Given the description of an element on the screen output the (x, y) to click on. 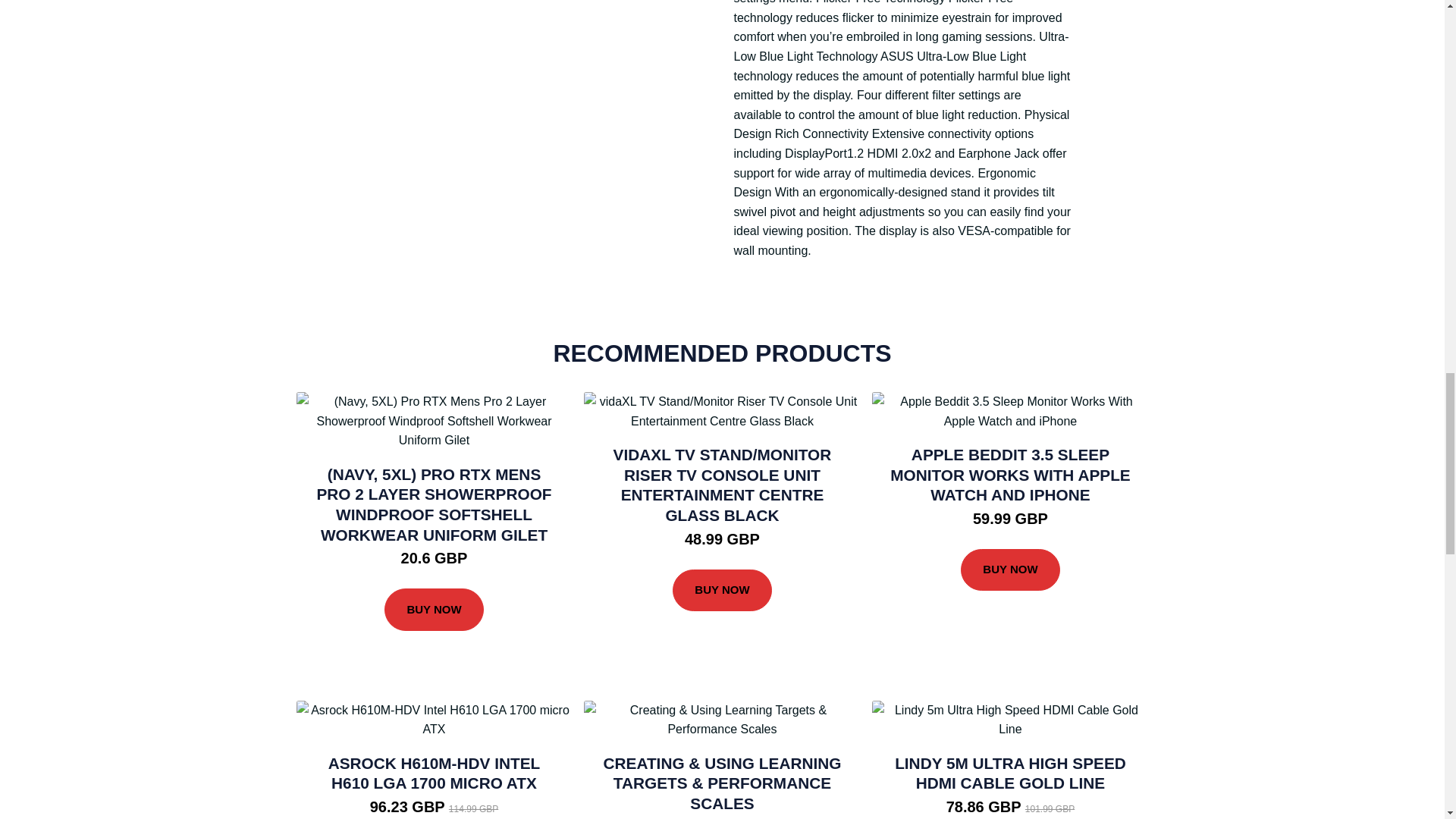
BUY NOW (1009, 569)
BUY NOW (433, 609)
BUY NOW (721, 590)
LINDY 5M ULTRA HIGH SPEED HDMI CABLE GOLD LINE (1010, 773)
ASROCK H610M-HDV INTEL H610 LGA 1700 MICRO ATX (434, 773)
